Given the description of an element on the screen output the (x, y) to click on. 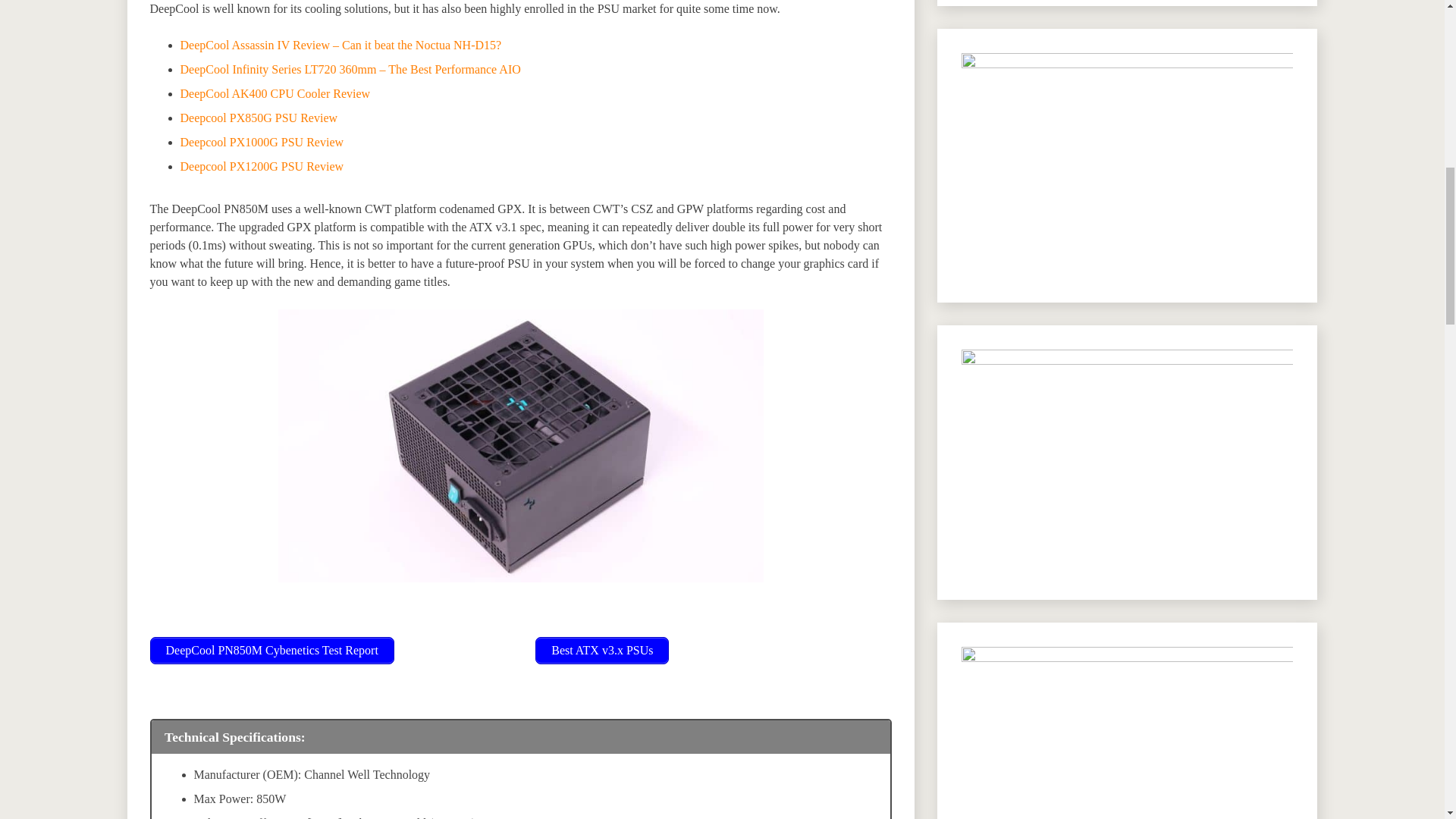
Deepcool PX850G PSU Review (258, 117)
Deepcool PX1000G PSU Review (261, 141)
DeepCool AK400 CPU Cooler Review (275, 92)
